Given the description of an element on the screen output the (x, y) to click on. 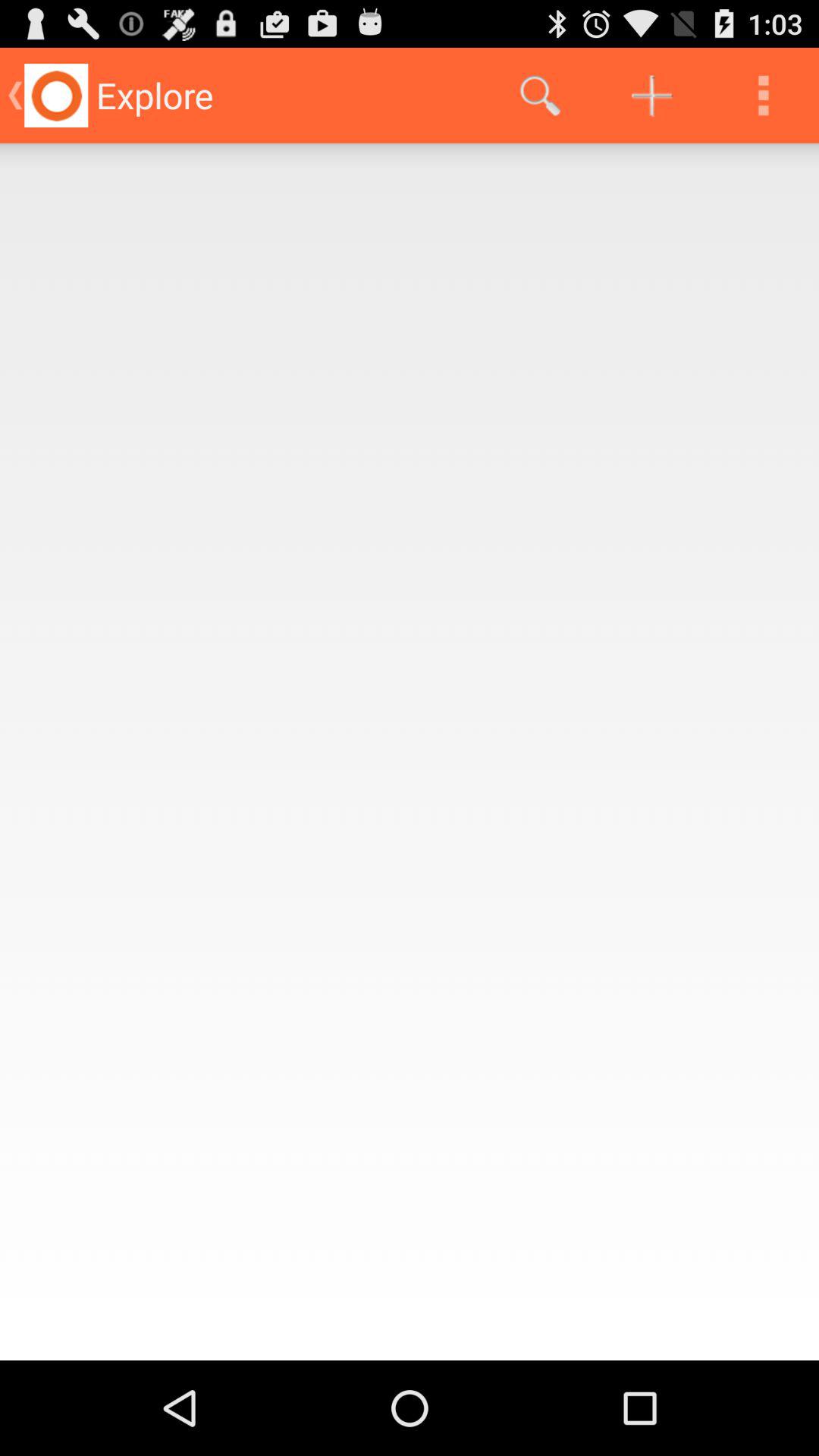
turn off item at the top (540, 95)
